Given the description of an element on the screen output the (x, y) to click on. 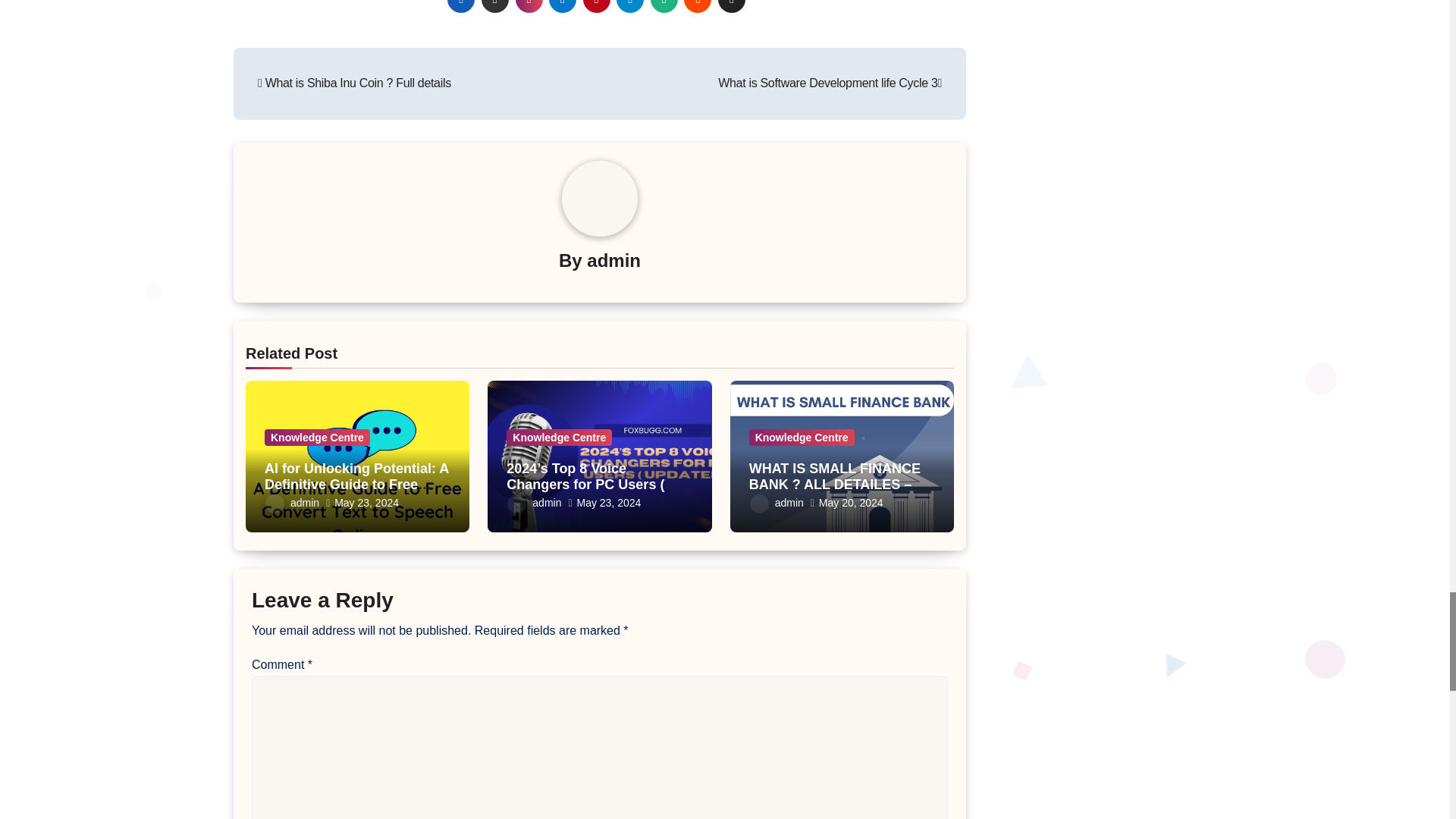
admin (613, 260)
What is Software Development life Cycle 3 (829, 82)
What is Shiba Inu Coin ? Full details (354, 82)
